Given the description of an element on the screen output the (x, y) to click on. 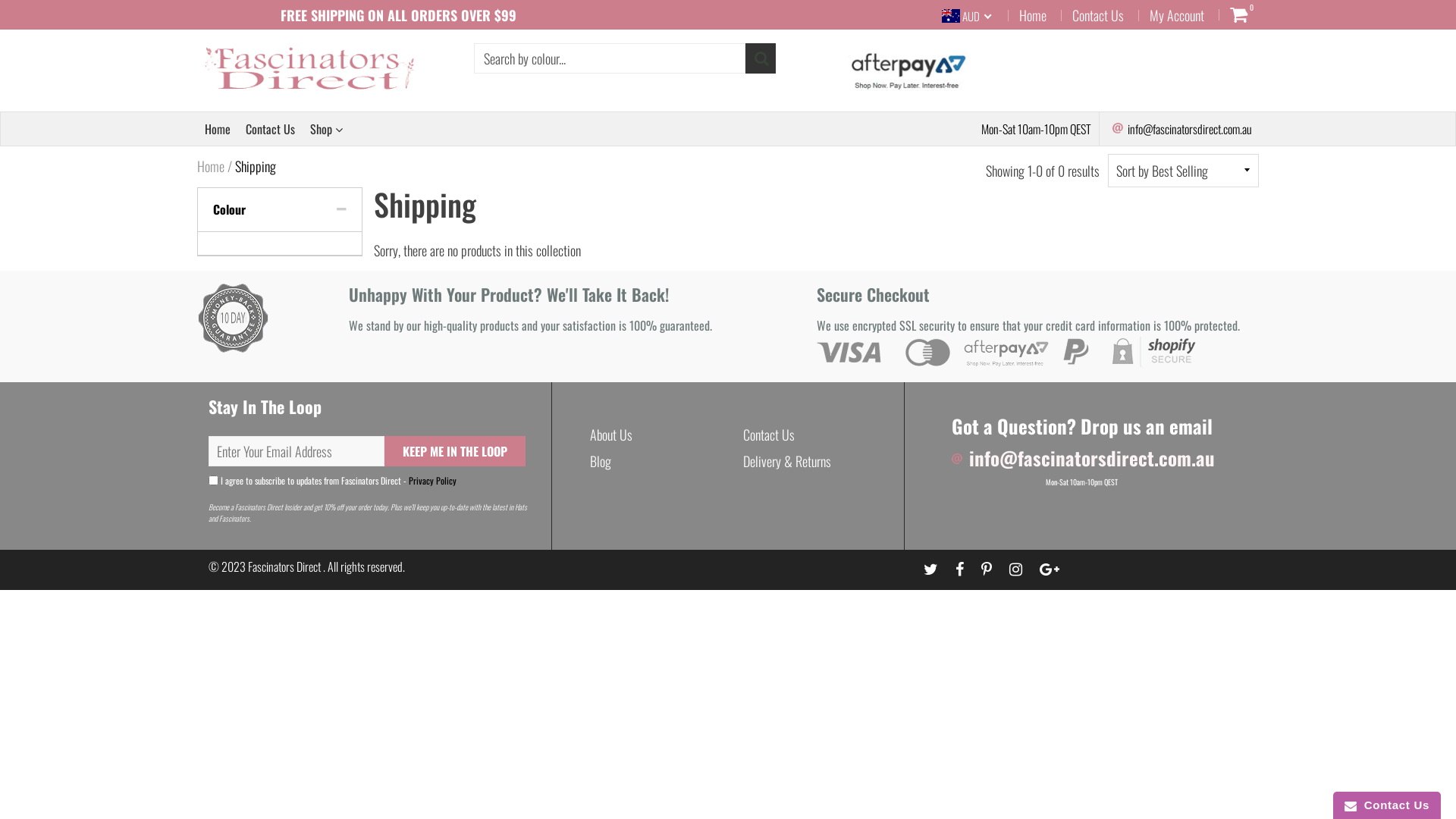
My Account Element type: text (1176, 15)
info@fascinatorsdirect.com.au Element type: text (1081, 457)
Privacy Policy Element type: text (432, 479)
Fascinators Direct Element type: text (285, 566)
Contact Us Element type: text (1097, 15)
Colour Element type: text (279, 210)
info@fascinatorsdirect.com.au Element type: text (1181, 128)
Contact Us Element type: text (269, 128)
Delivery & Returns Element type: text (787, 460)
FREE SHIPPING ON ALL ORDERS OVER $99 Element type: text (398, 15)
About Us Element type: text (610, 434)
0 Element type: text (1238, 14)
Blog Element type: text (600, 460)
Home Element type: text (1032, 15)
Contact Us Element type: text (768, 434)
Shop Element type: text (326, 128)
KEEP ME IN THE LOOP Element type: text (454, 451)
Home Element type: text (217, 128)
Home Element type: text (210, 165)
